Given the description of an element on the screen output the (x, y) to click on. 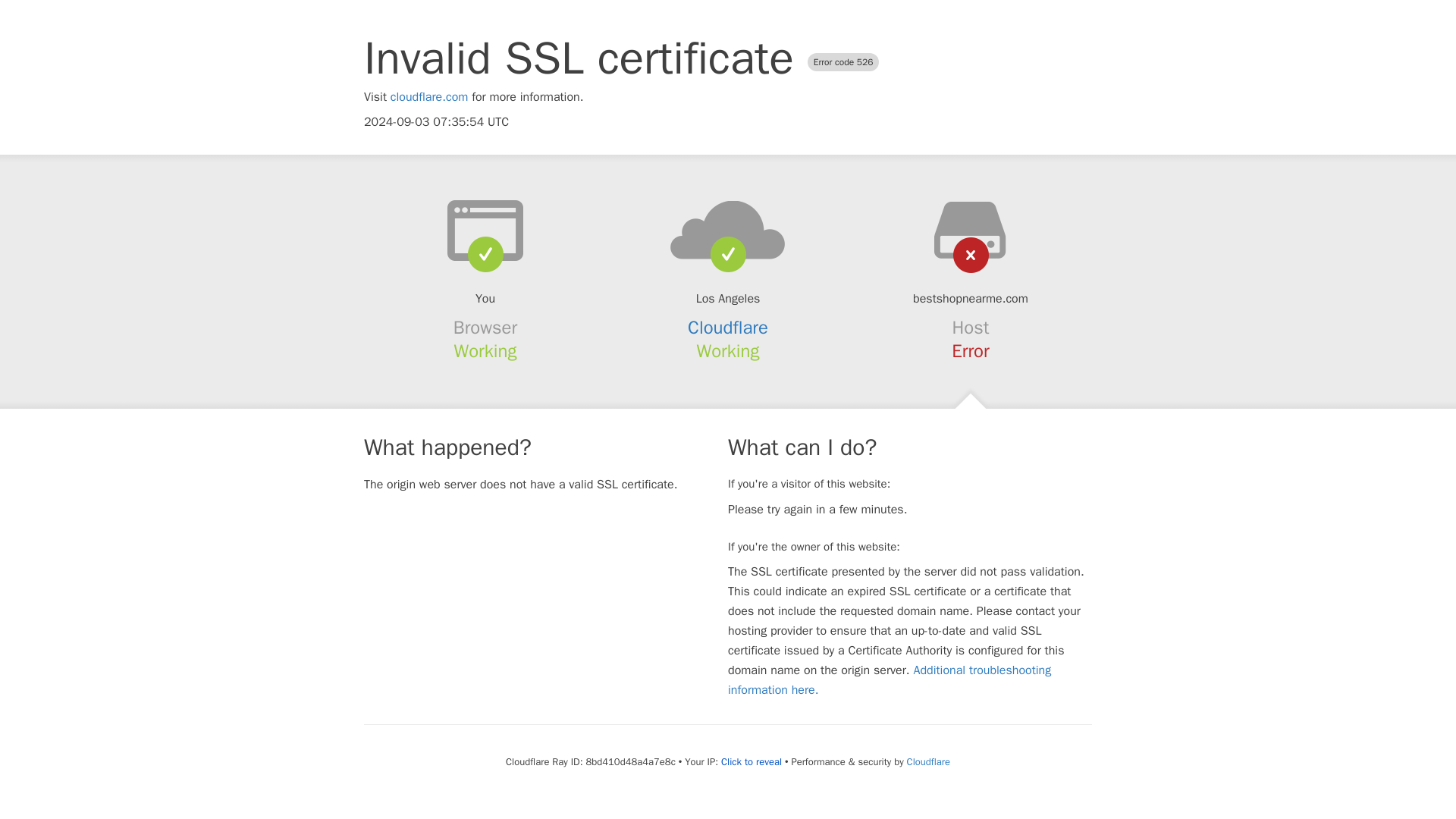
Cloudflare (928, 761)
Cloudflare (727, 327)
cloudflare.com (429, 96)
Additional troubleshooting information here. (889, 679)
Click to reveal (750, 762)
